Given the description of an element on the screen output the (x, y) to click on. 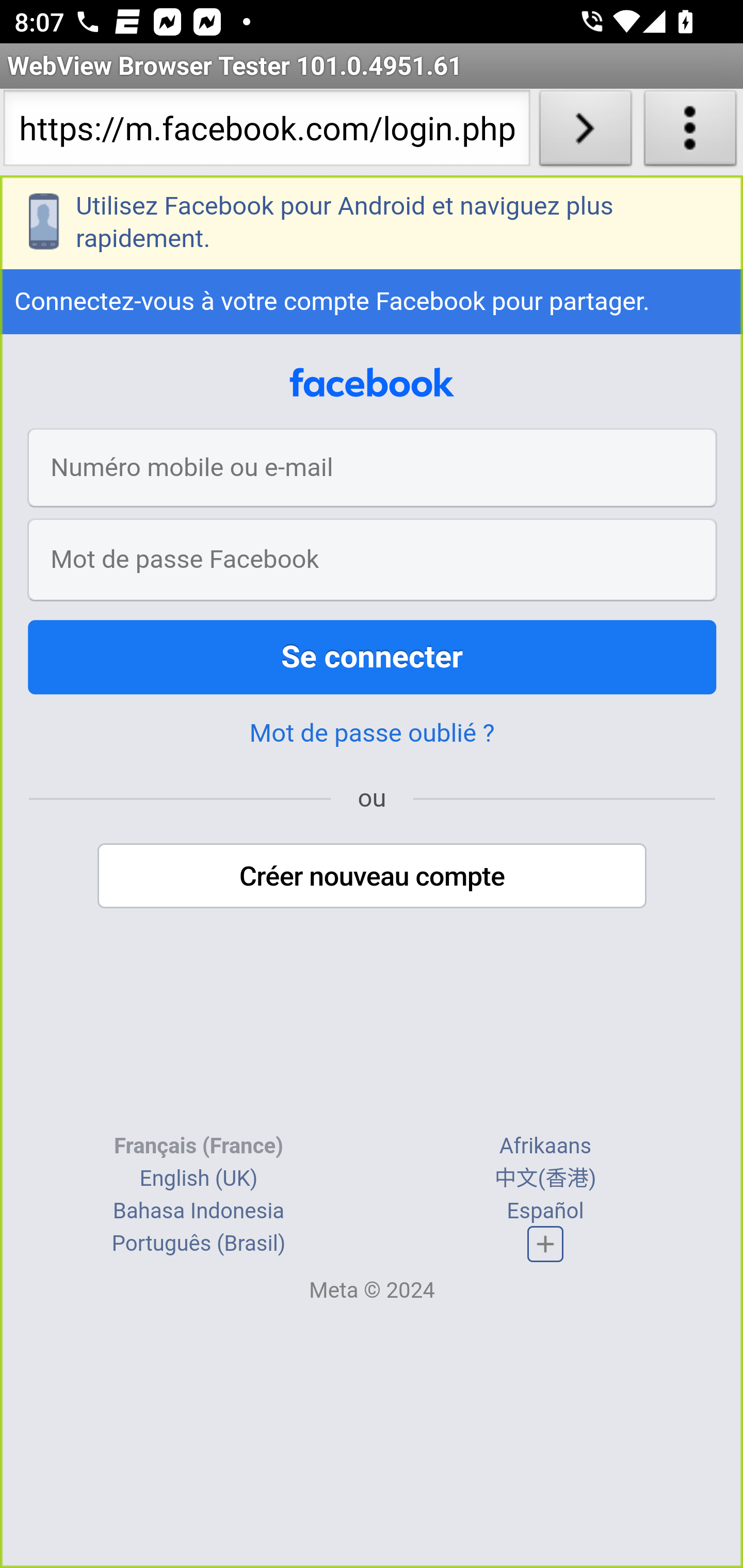
Load URL (585, 132)
About WebView (690, 132)
facebook (372, 382)
Se connecter (372, 656)
Mot de passe oublié ? (371, 732)
Créer nouveau compte (372, 875)
Afrikaans (545, 1145)
English (UK) (197, 1178)
中文(香港) (544, 1178)
Bahasa Indonesia (198, 1210)
Español (545, 1210)
Liste complète des langues (545, 1243)
Português (Brasil) (197, 1242)
